Given the description of an element on the screen output the (x, y) to click on. 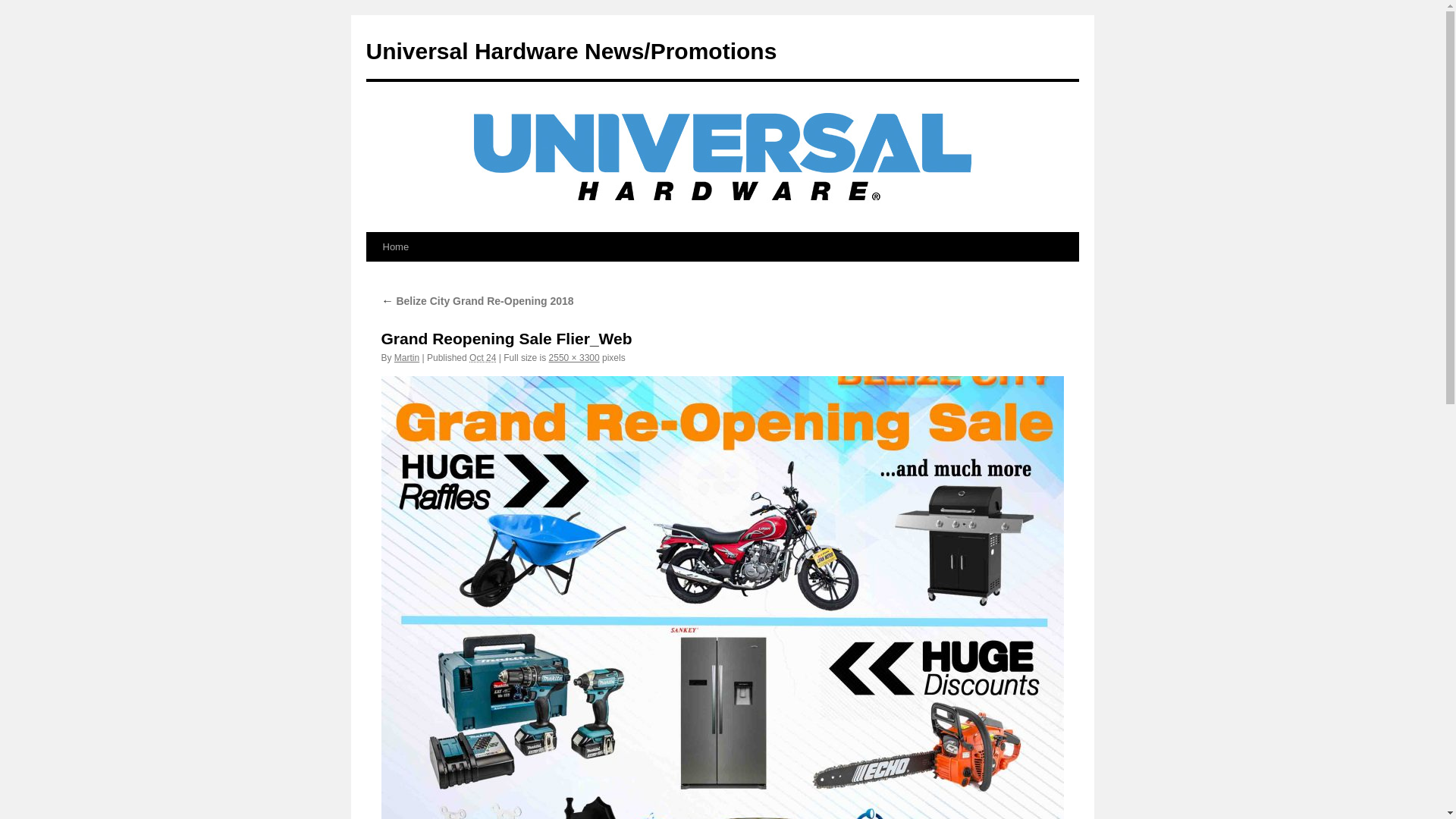
Home Element type: text (395, 246)
Martin Element type: text (406, 357)
Skip to content Element type: text (372, 275)
Universal Hardware News/Promotions Element type: text (570, 50)
